Given the description of an element on the screen output the (x, y) to click on. 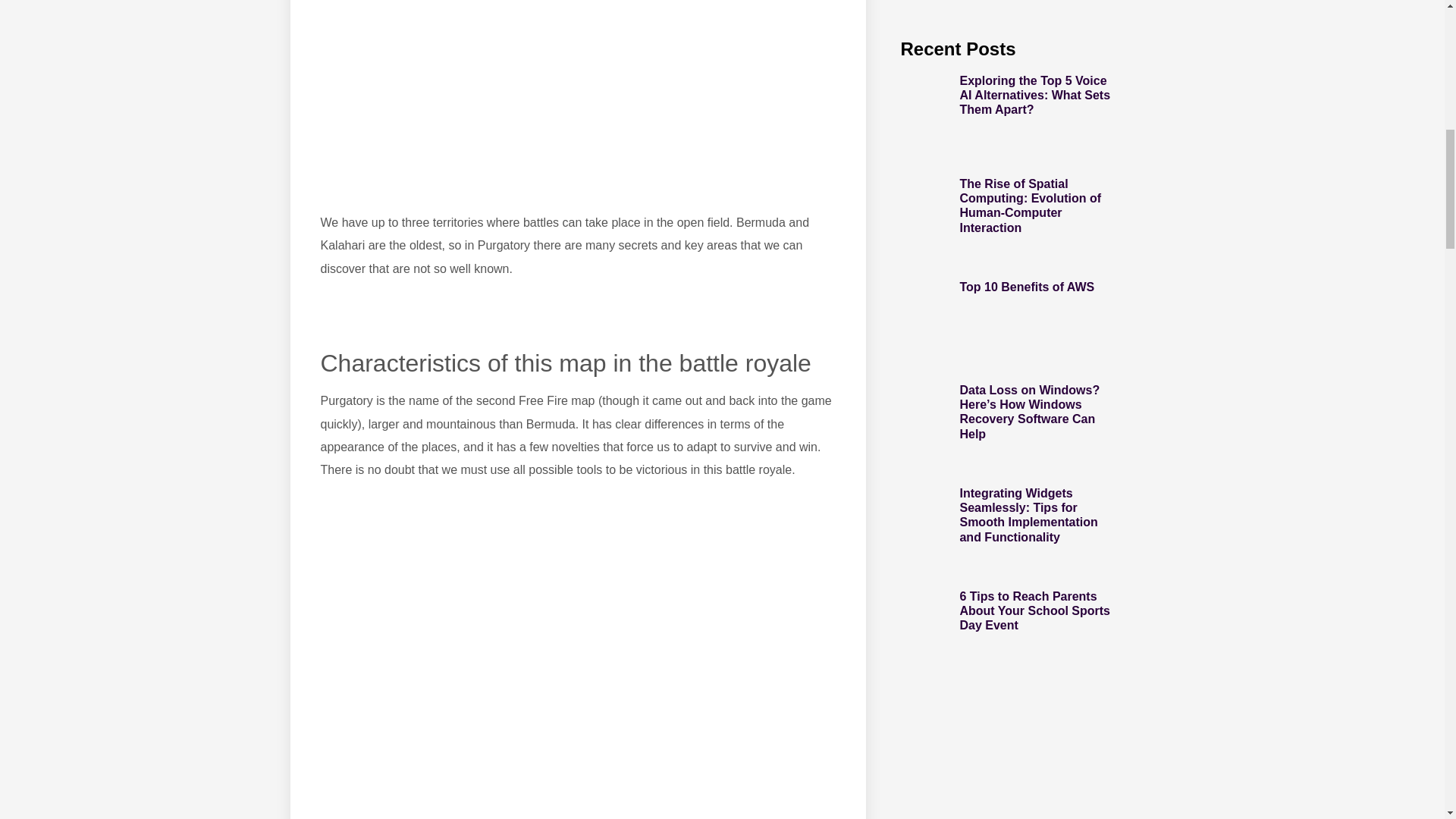
6 Tips to Reach Parents About Your School Sports Day Event (1034, 610)
Top 10 Benefits of AWS (1026, 286)
